Given the description of an element on the screen output the (x, y) to click on. 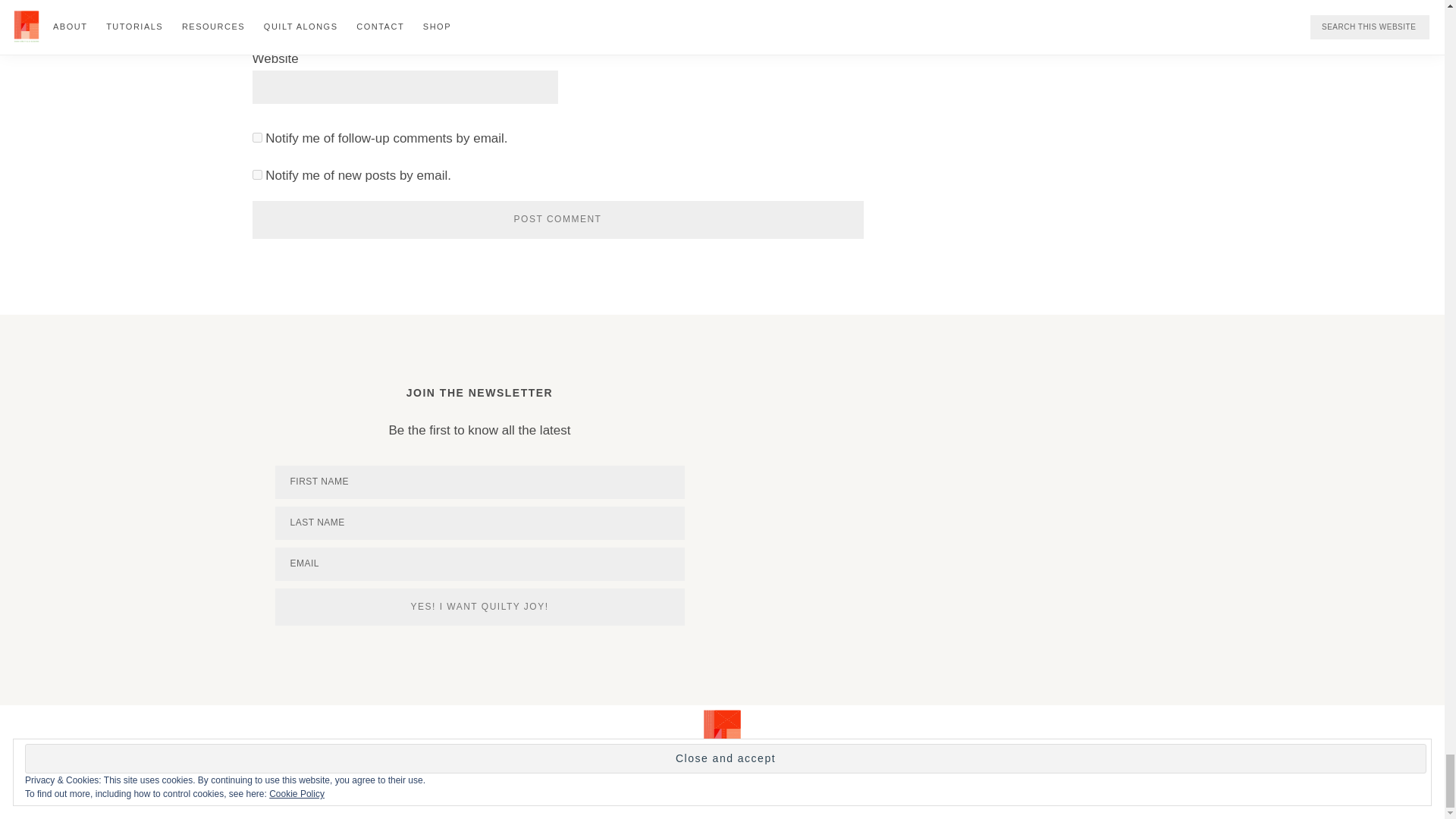
Yes! I want quilty joy! (479, 607)
subscribe (256, 174)
Post Comment (557, 219)
subscribe (256, 137)
